Given the description of an element on the screen output the (x, y) to click on. 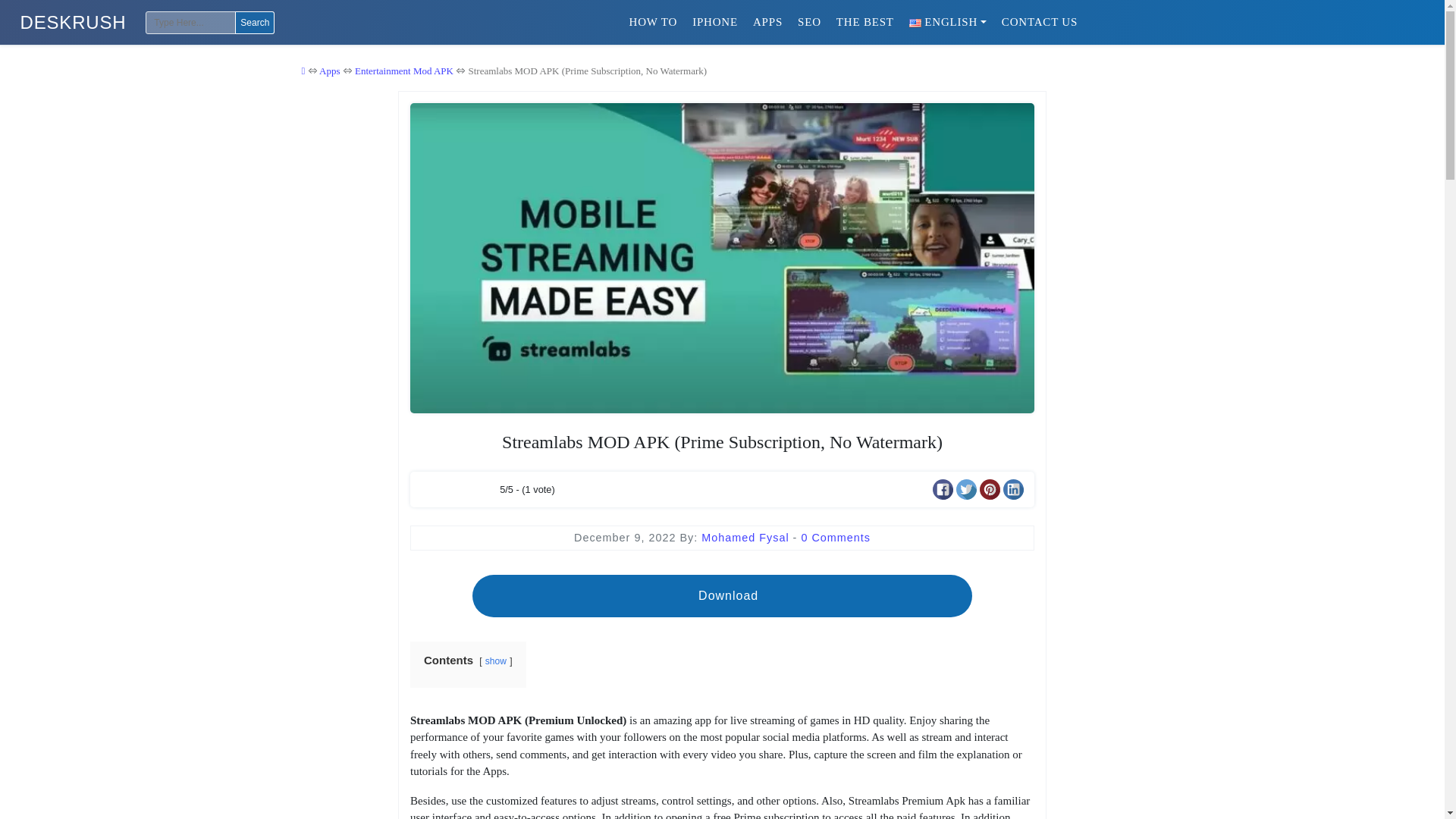
Entertainment Mod APK (403, 70)
The Best (864, 21)
pinterest (989, 489)
twitter (966, 489)
Apps (328, 70)
   Download (721, 595)
DESKRUSH (73, 22)
Mohamed Fysal (746, 537)
THE BEST (864, 21)
APPS (767, 21)
0 Comments (835, 537)
Contact Us (1039, 21)
facebook (943, 489)
SEO (809, 21)
show (495, 661)
